Given the description of an element on the screen output the (x, y) to click on. 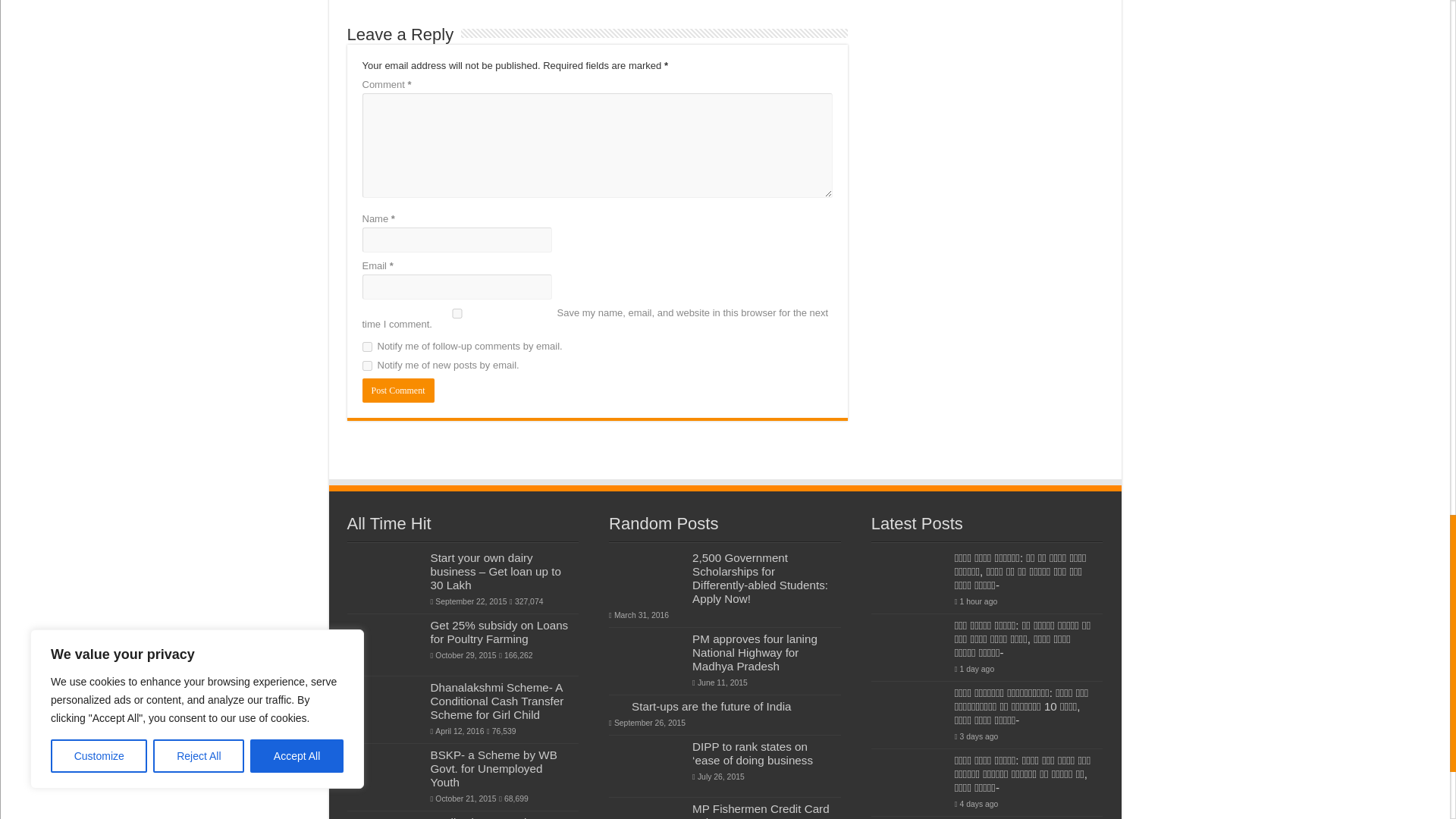
subscribe (367, 347)
Post Comment (397, 390)
yes (456, 313)
subscribe (367, 366)
